Given the description of an element on the screen output the (x, y) to click on. 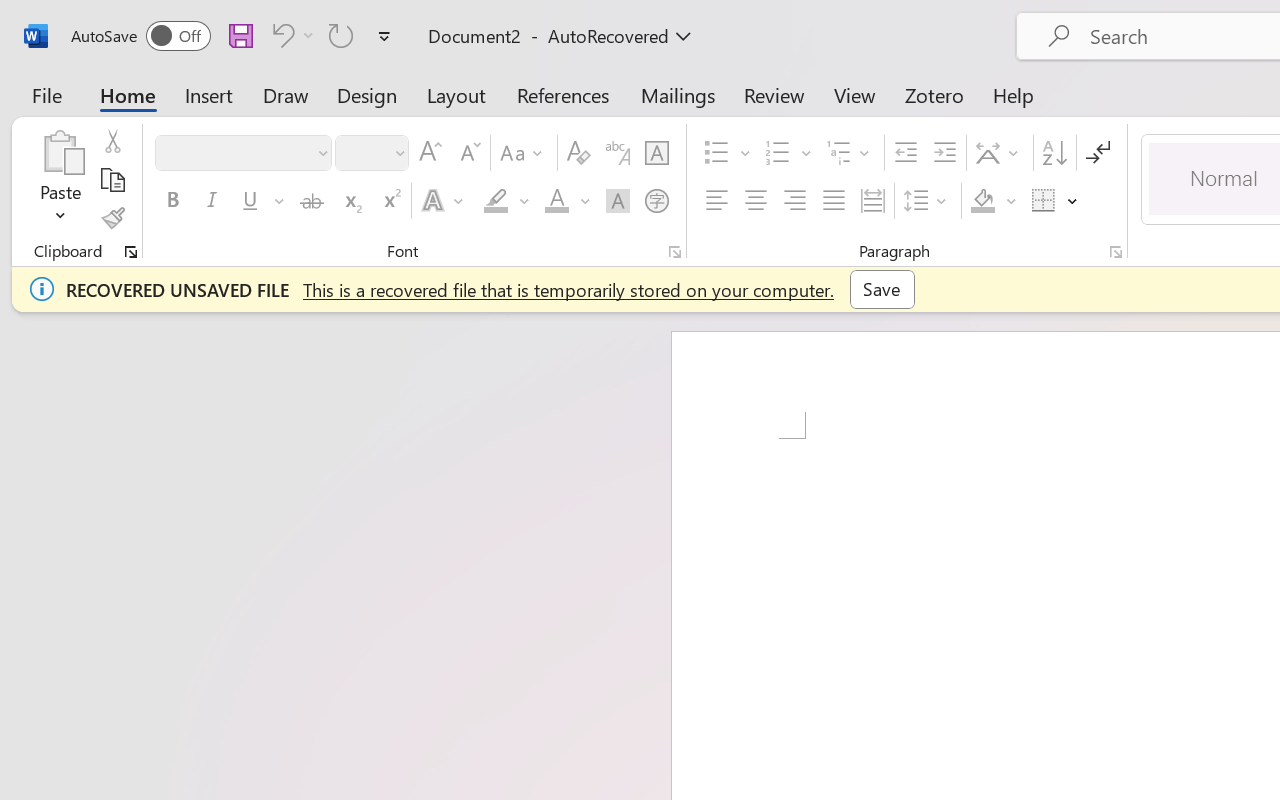
Enclose Characters... (656, 201)
Sort... (1054, 153)
Decrease Indent (906, 153)
Font Color RGB(255, 0, 0) (556, 201)
Text Effects and Typography (444, 201)
Can't Undo (290, 35)
Align Left (716, 201)
Cut (112, 141)
Clear Formatting (578, 153)
Superscript (390, 201)
Character Border (656, 153)
